Given the description of an element on the screen output the (x, y) to click on. 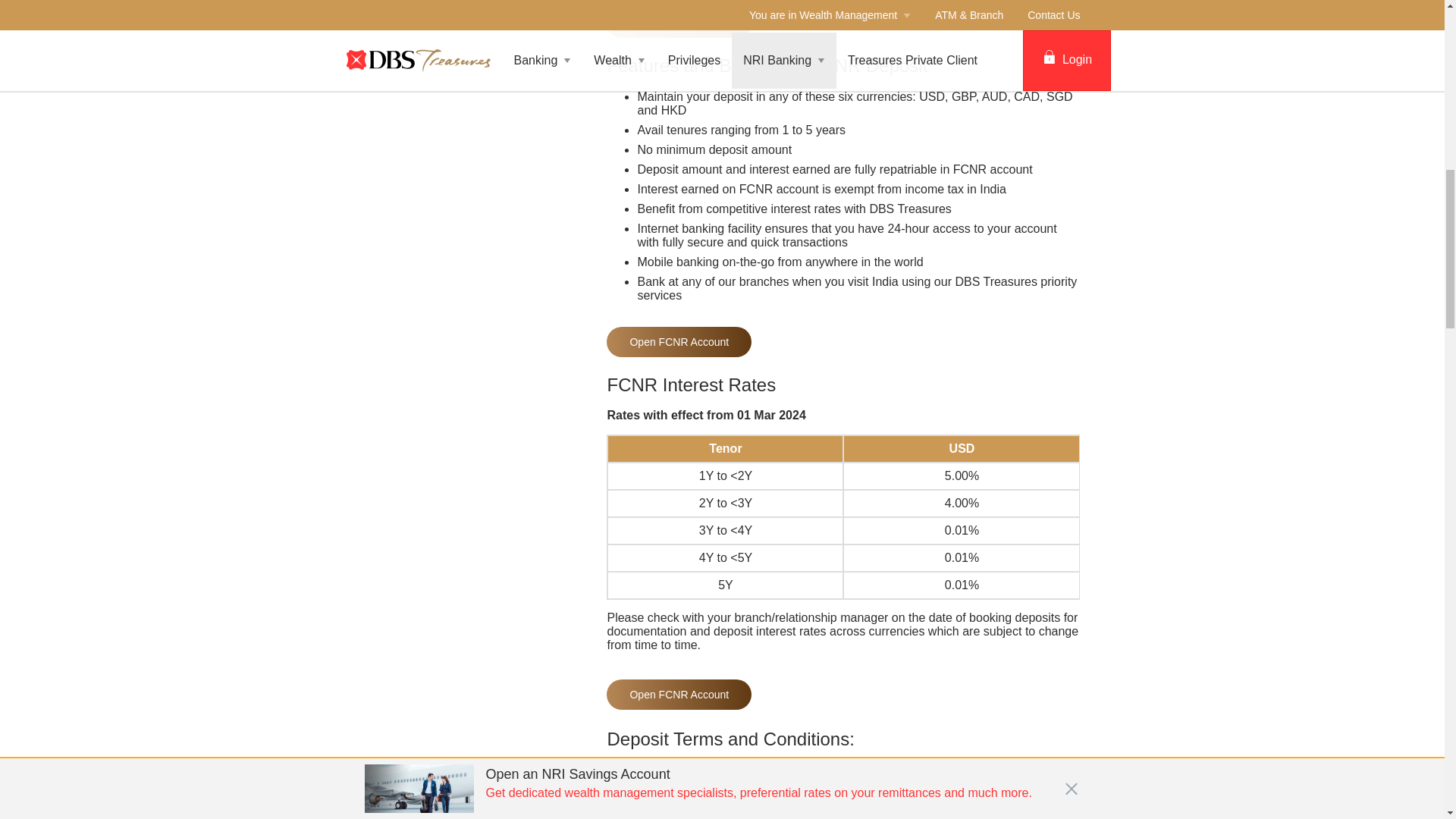
Open FCNR Account (679, 341)
Open FCNR Account (679, 22)
Open FCNR Account (679, 694)
